Given the description of an element on the screen output the (x, y) to click on. 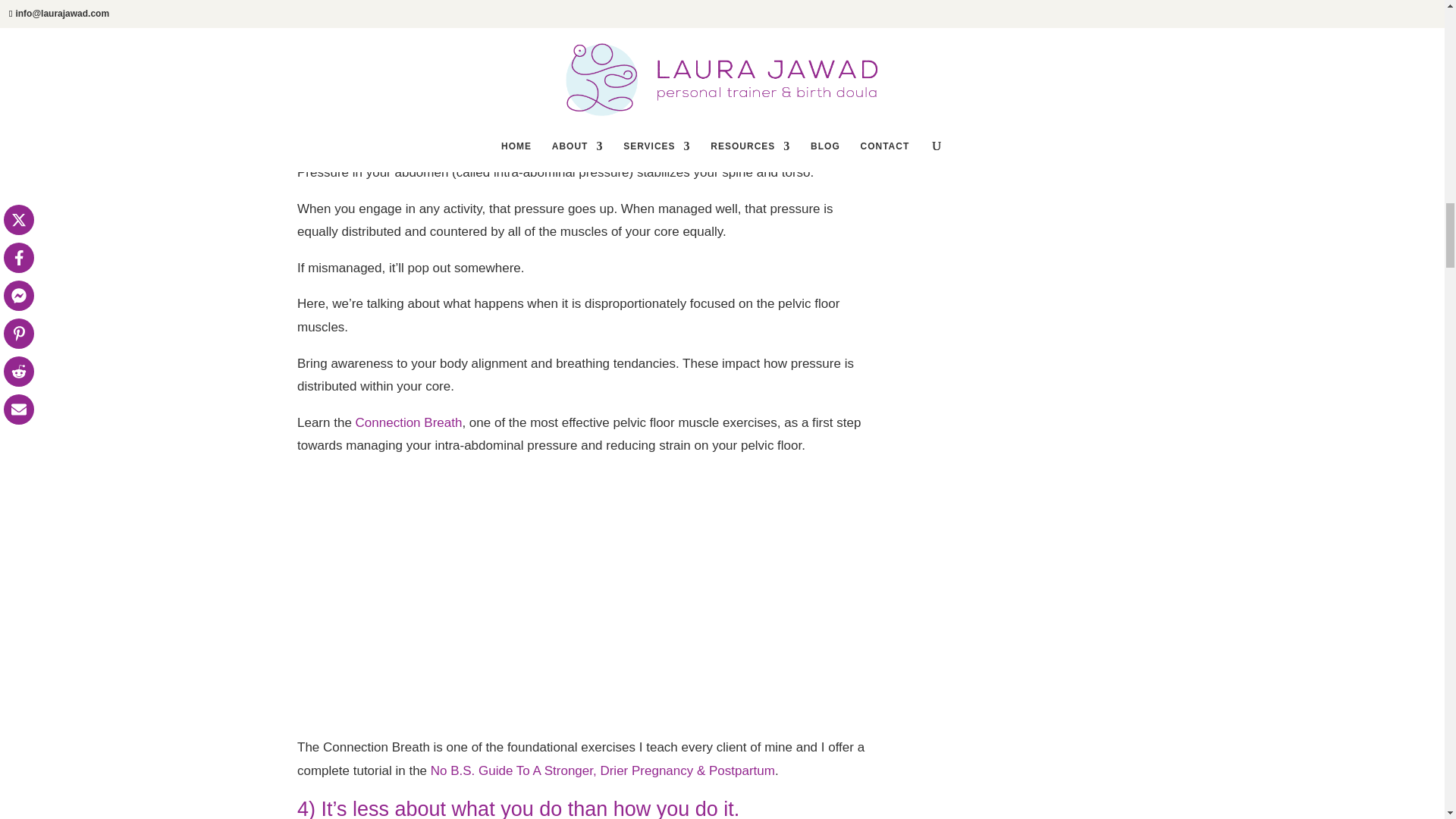
YouTube video player (509, 593)
Connection Breath (409, 422)
